Given the description of an element on the screen output the (x, y) to click on. 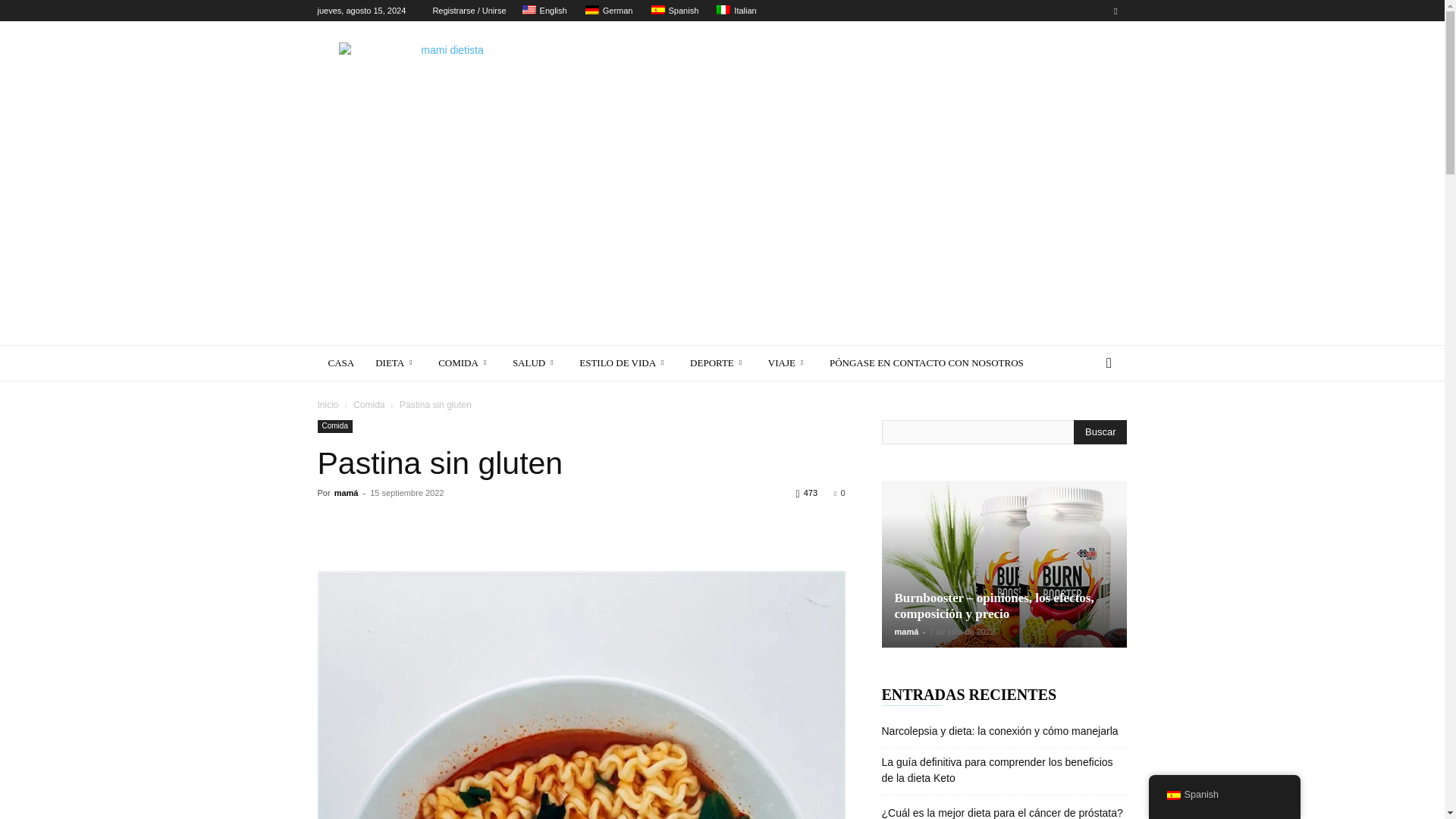
Facebook (1114, 10)
German (591, 9)
DIETA (396, 362)
CASA (341, 362)
Spanish (672, 10)
Italian (723, 9)
mami dietista (445, 76)
Spanish (657, 9)
Buscar (1100, 432)
